Given the description of an element on the screen output the (x, y) to click on. 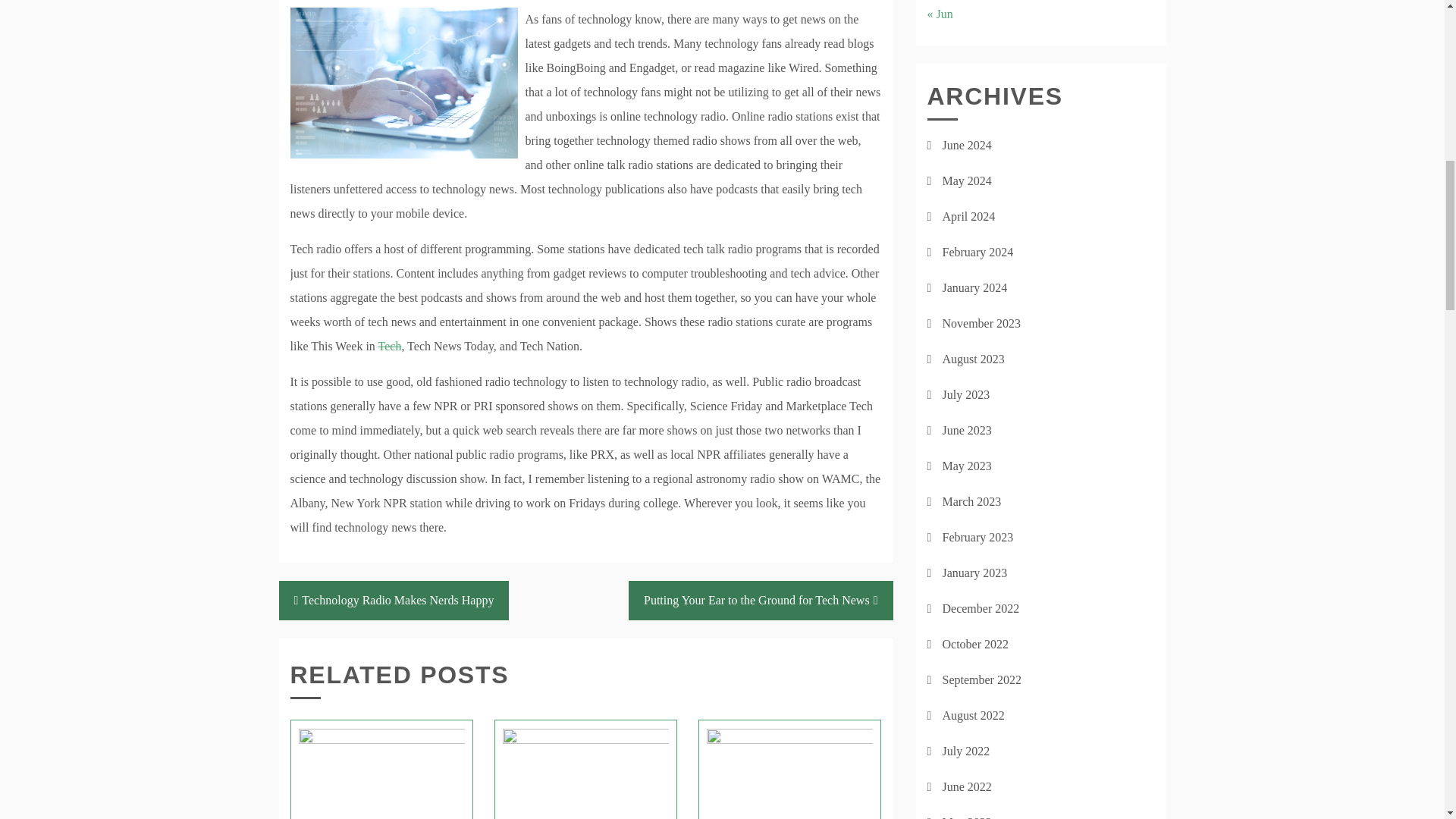
January 2024 (974, 287)
November 2023 (981, 323)
June 2023 (966, 430)
February 2024 (977, 251)
Putting Your Ear to the Ground for Tech News (760, 599)
May 2024 (966, 180)
April 2024 (968, 215)
August 2023 (973, 358)
July 2023 (966, 394)
February 2023 (977, 536)
Awesome link (389, 345)
May 2023 (966, 465)
June 2024 (966, 144)
March 2023 (971, 501)
Technology Radio Makes Nerds Happy (394, 599)
